Given the description of an element on the screen output the (x, y) to click on. 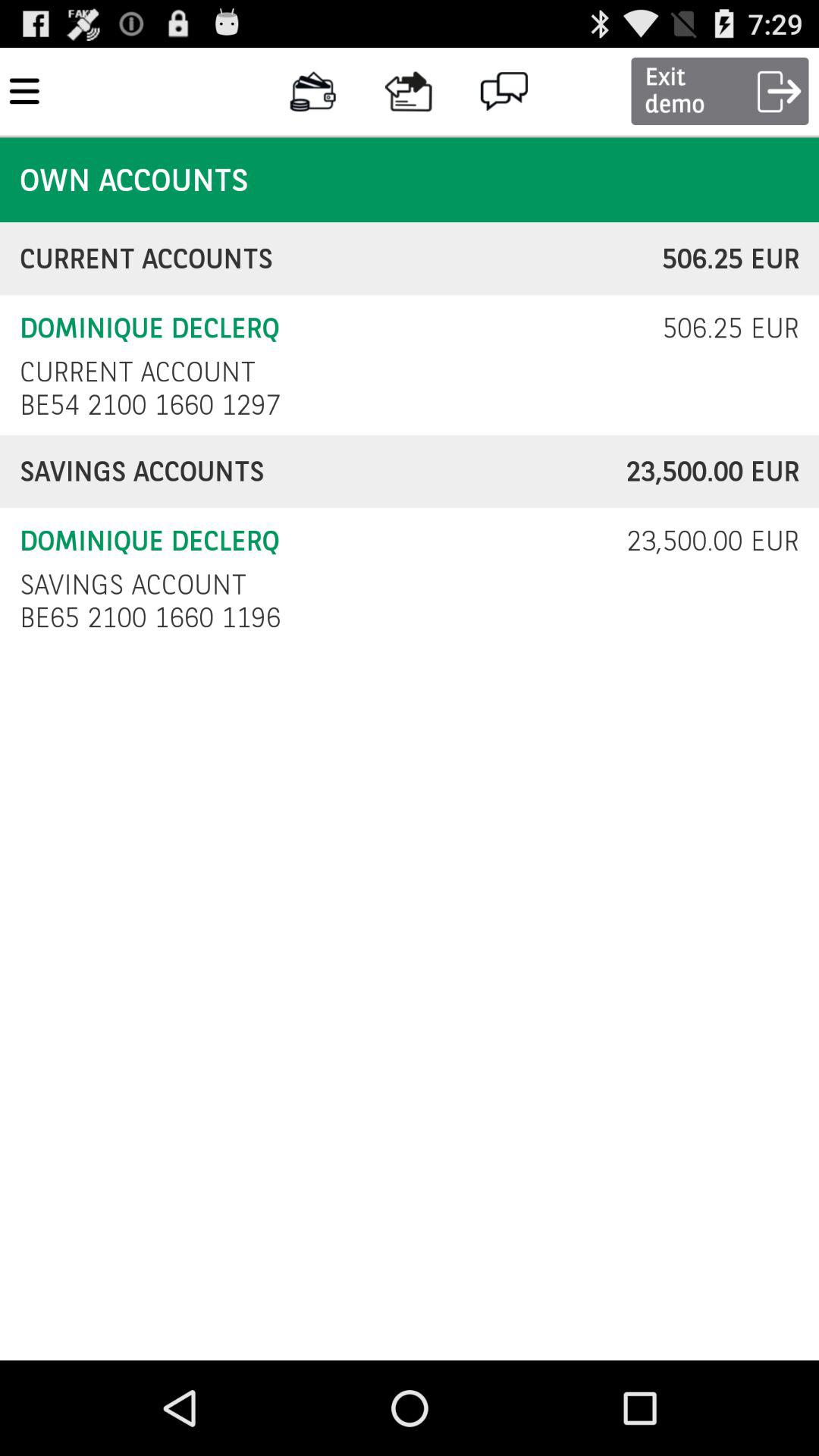
choose the item above be65 2100 1660 item (132, 584)
